Given the description of an element on the screen output the (x, y) to click on. 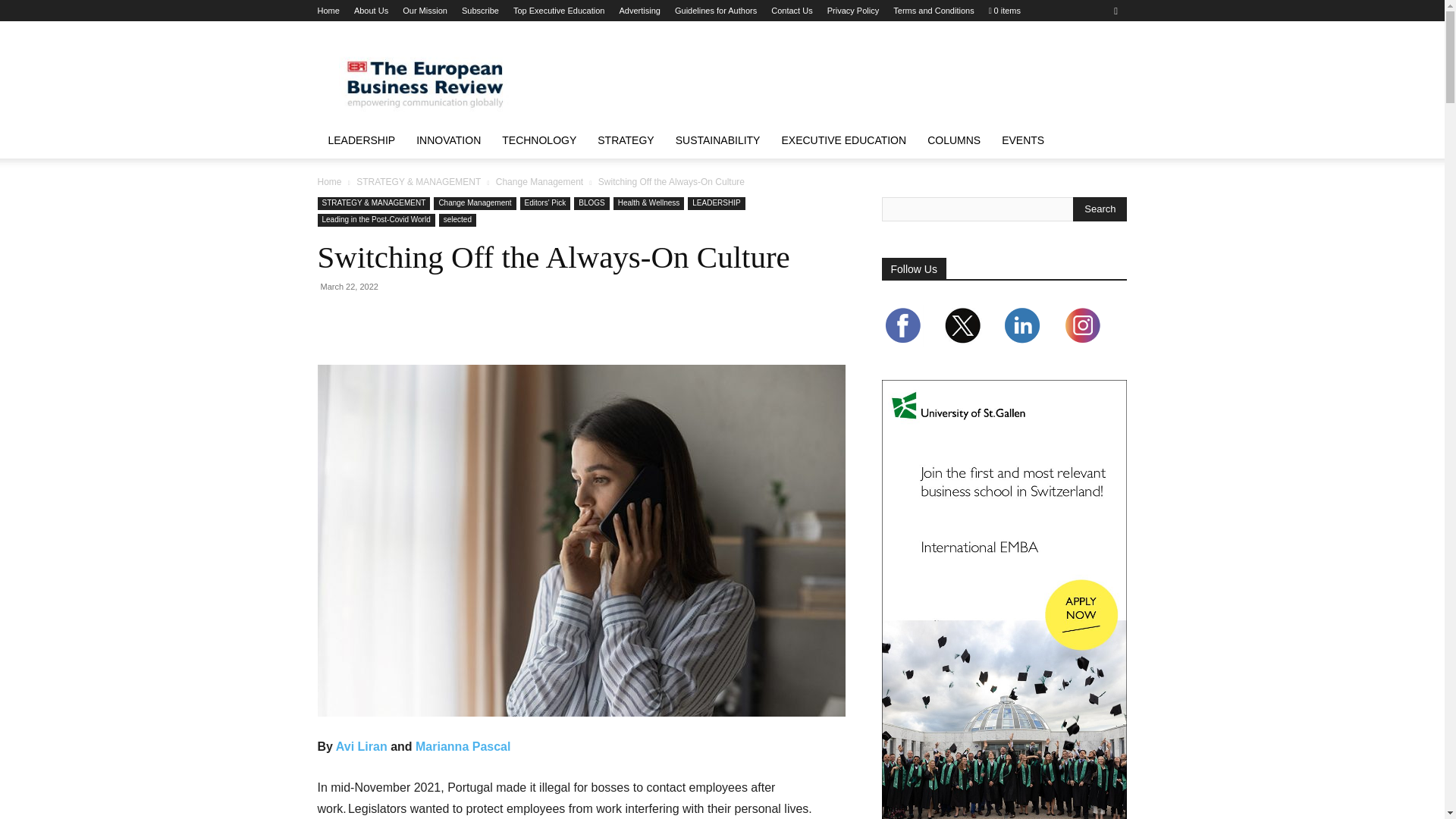
advertisement (850, 76)
Innovation (449, 140)
Search (1099, 209)
View all posts in Change Management (539, 181)
Start shopping (1004, 10)
